Given the description of an element on the screen output the (x, y) to click on. 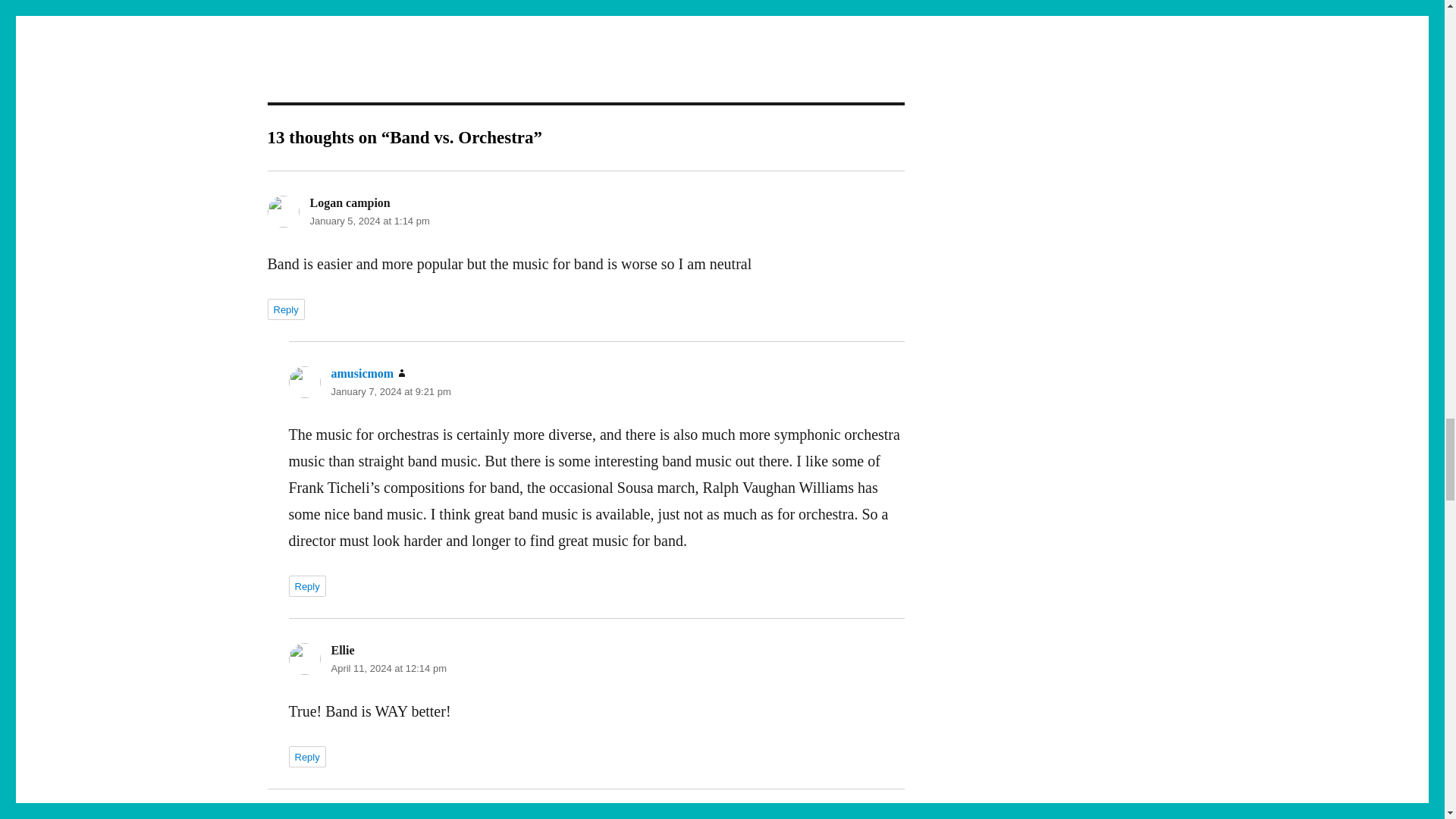
January 7, 2024 at 9:21 pm (389, 391)
amusicmom (361, 373)
January 5, 2024 at 1:14 pm (368, 220)
Reply (285, 309)
Reply (306, 586)
Pinterest (494, 8)
Pinterest (494, 8)
Facebook (463, 8)
April 11, 2024 at 12:14 pm (388, 668)
Reply (306, 756)
A (313, 816)
Facebook (463, 8)
